Given the description of an element on the screen output the (x, y) to click on. 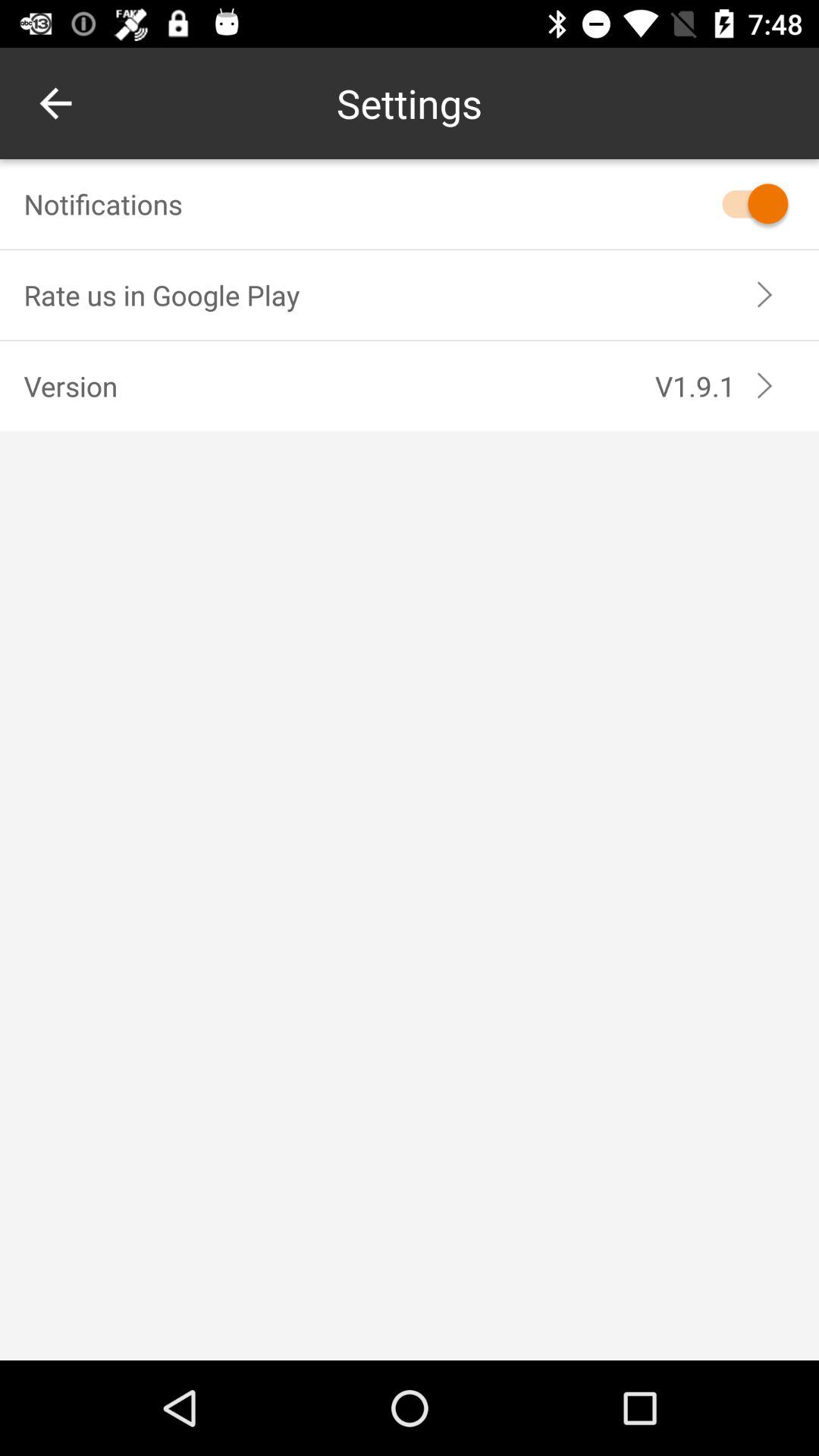
turn on the item next to the settings item (55, 103)
